Given the description of an element on the screen output the (x, y) to click on. 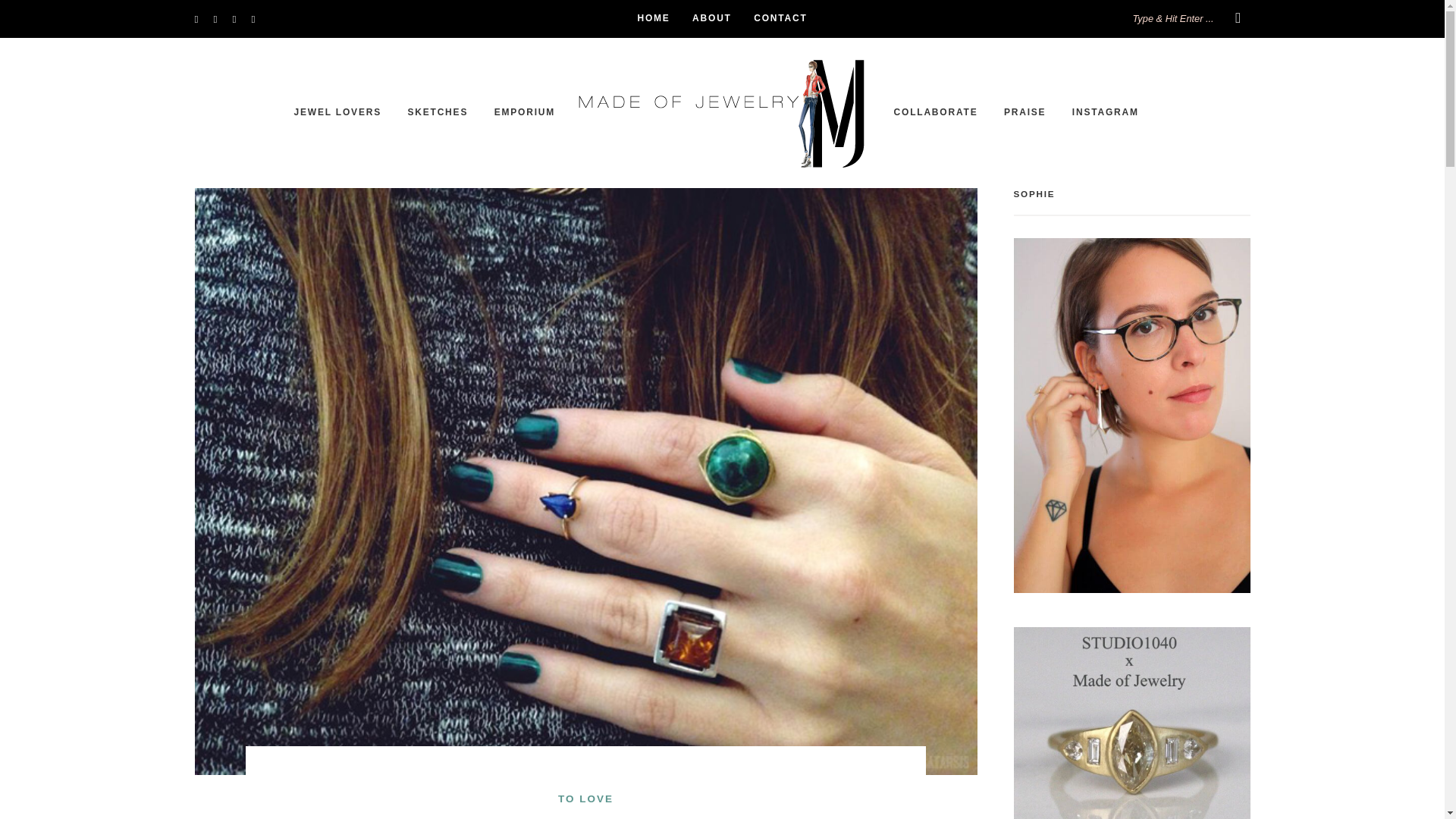
JEWEL LOVERS (337, 111)
TO LOVE (584, 798)
SKETCHES (437, 111)
ABOUT (712, 18)
INSTAGRAM (1104, 111)
EMPORIUM (524, 111)
HOME (653, 18)
PRAISE (1024, 111)
COLLABORATE (935, 111)
CONTACT (780, 18)
